Given the description of an element on the screen output the (x, y) to click on. 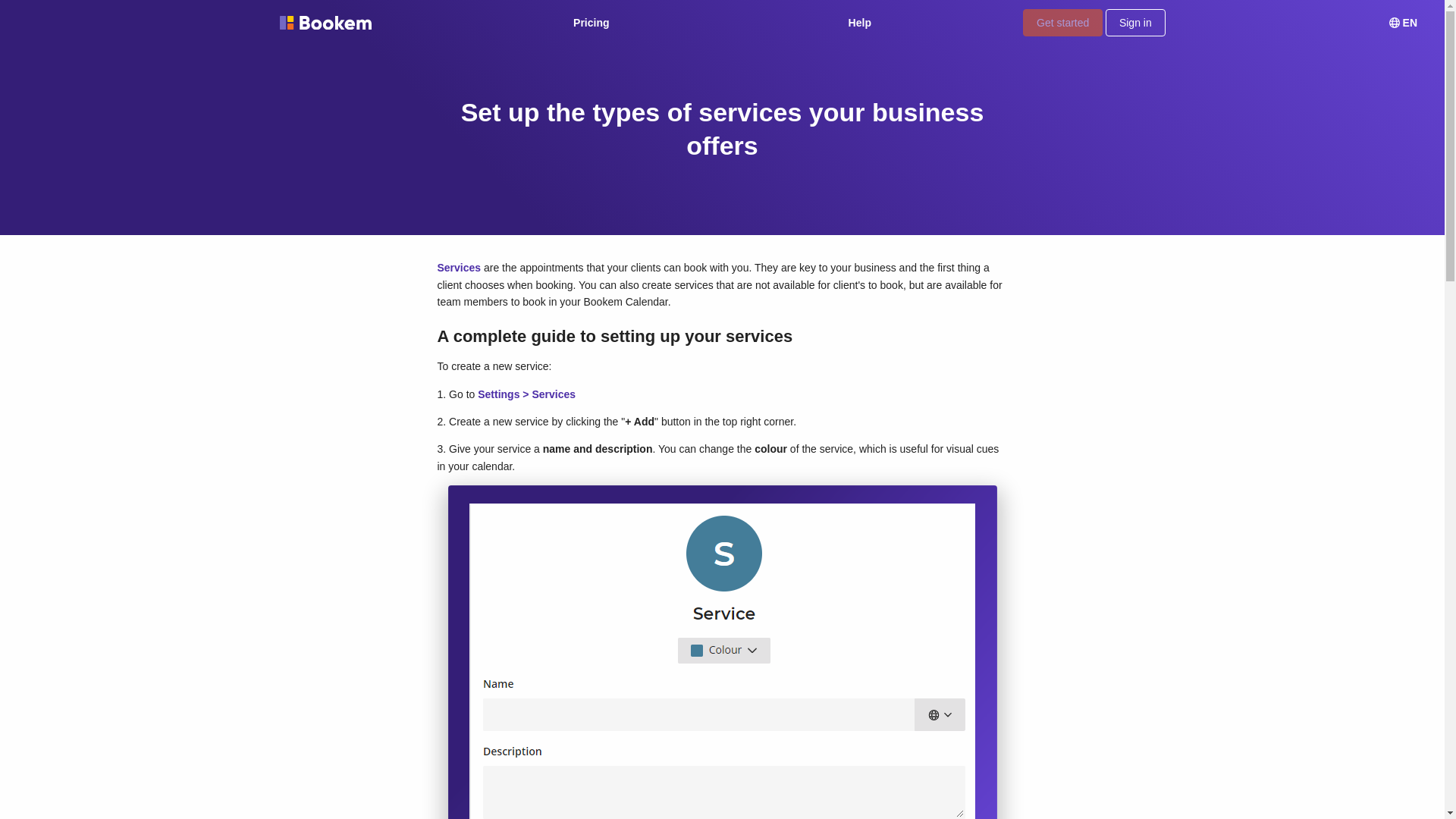
Bookem logo (325, 22)
Services (458, 267)
Pricing (590, 22)
Get started (1062, 22)
EN (1402, 22)
Sign in (1134, 22)
Help (859, 22)
